Given the description of an element on the screen output the (x, y) to click on. 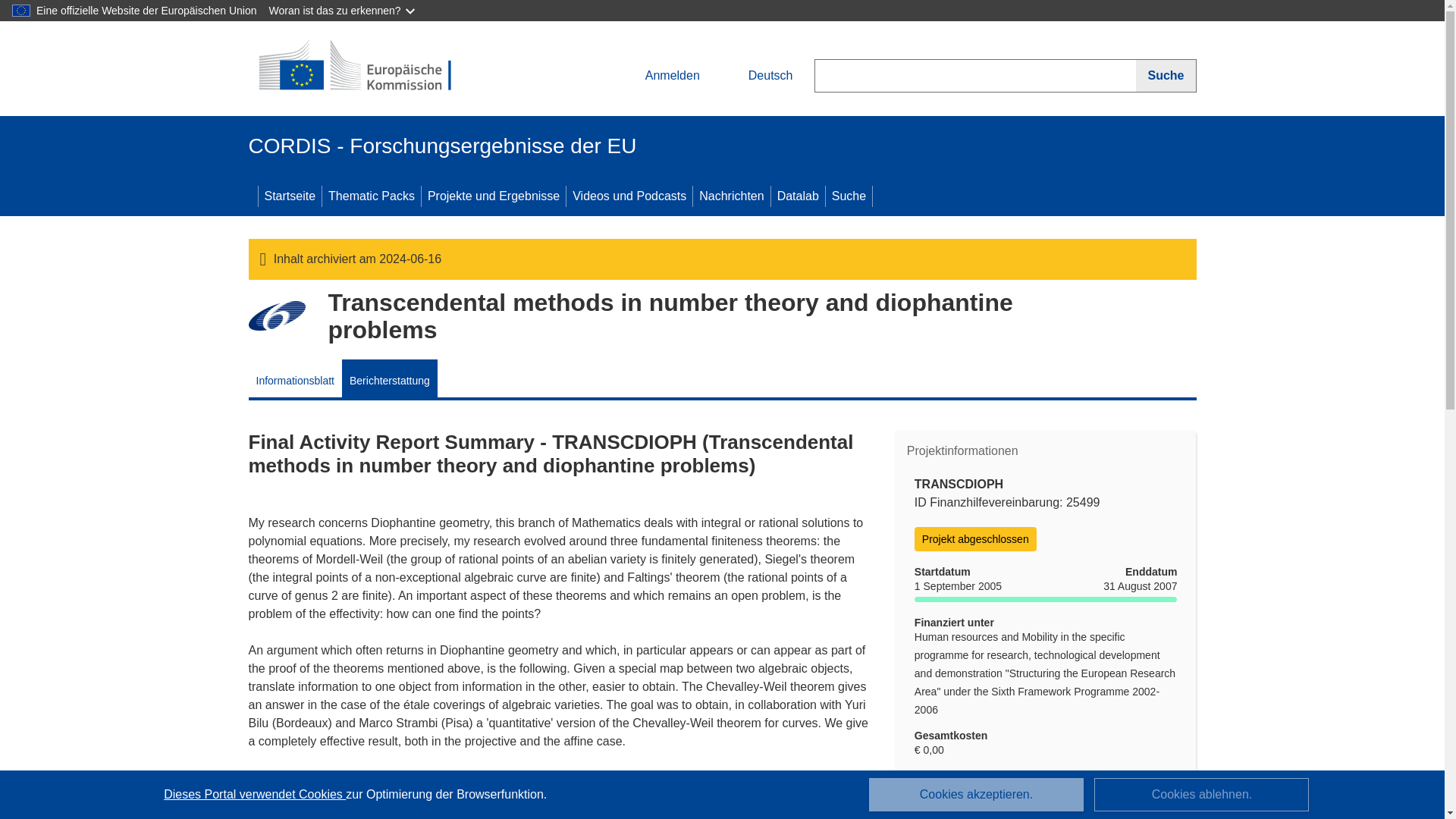
Skip to main content (5, 6)
Nachrichten (731, 196)
Informationsblatt (295, 378)
Deutsch (758, 75)
Suche (848, 196)
Suche (1165, 75)
Berichterstattung (390, 378)
Startseite (289, 196)
European Commission (358, 66)
Datalab (798, 196)
